Given the description of an element on the screen output the (x, y) to click on. 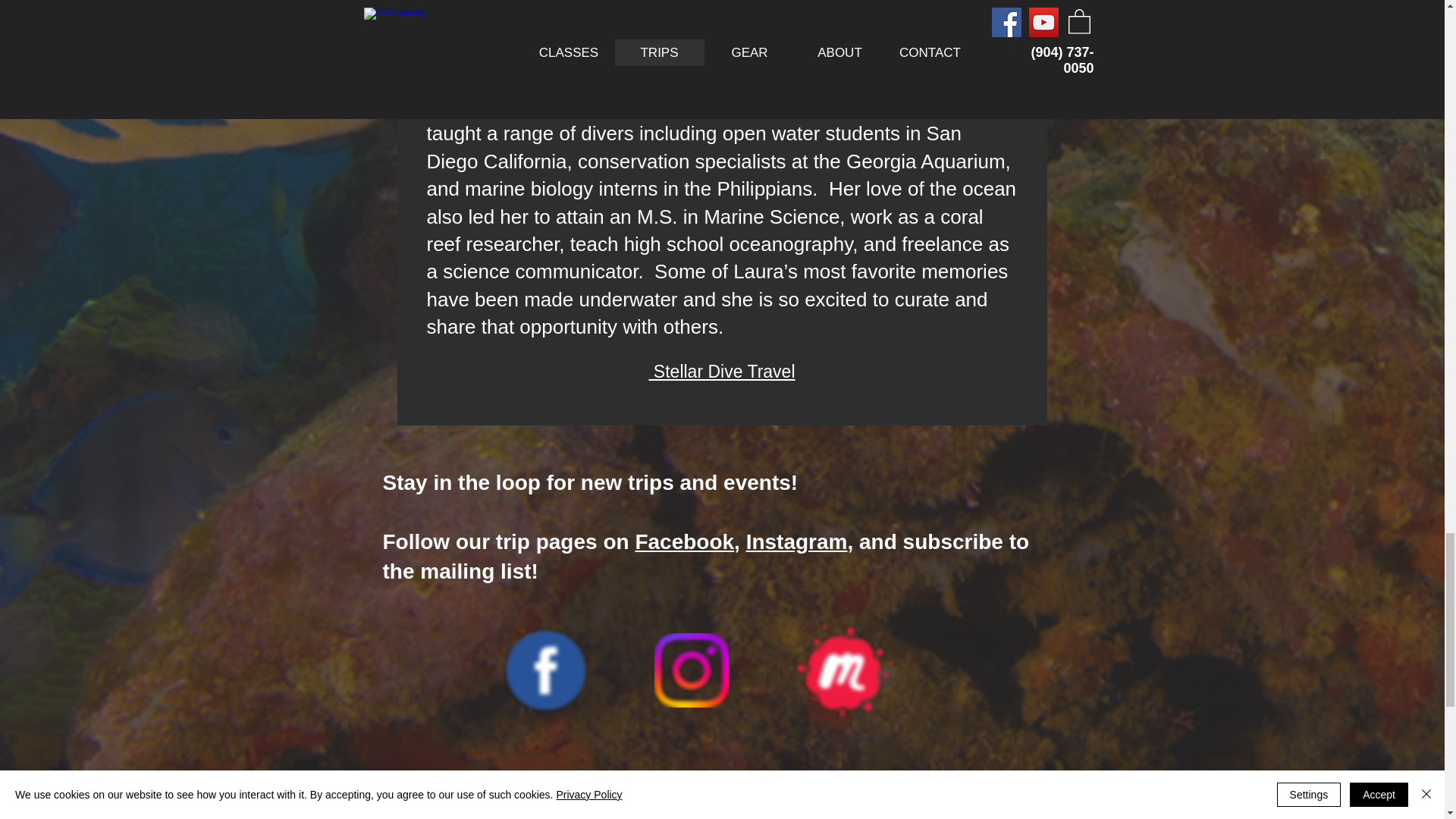
 Stellar Dive Travel (720, 371)
